Given the description of an element on the screen output the (x, y) to click on. 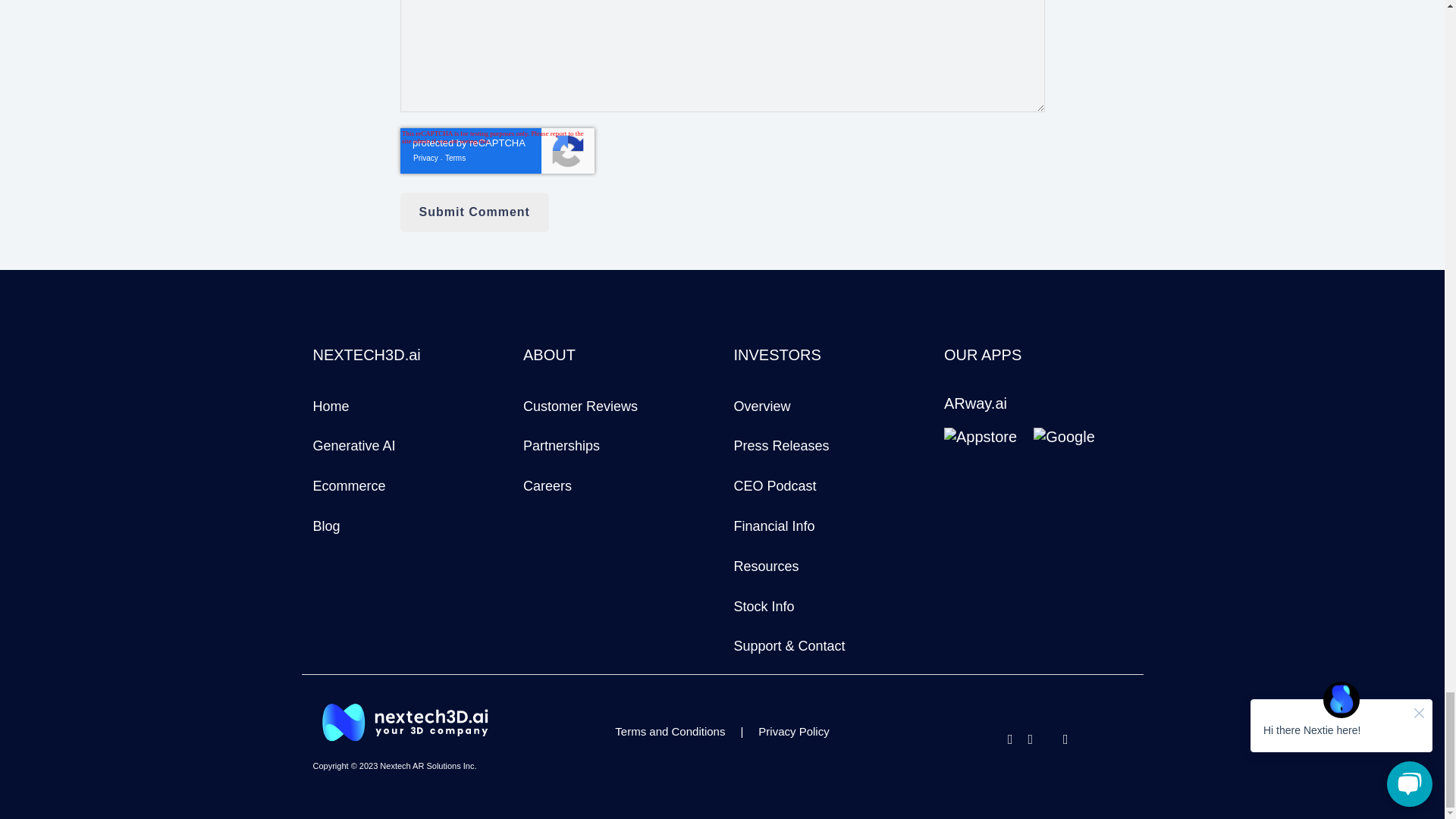
reCAPTCHA (497, 150)
Submit Comment (474, 211)
Nextech3D.ai---your3dcompany-logo-white (406, 722)
